Given the description of an element on the screen output the (x, y) to click on. 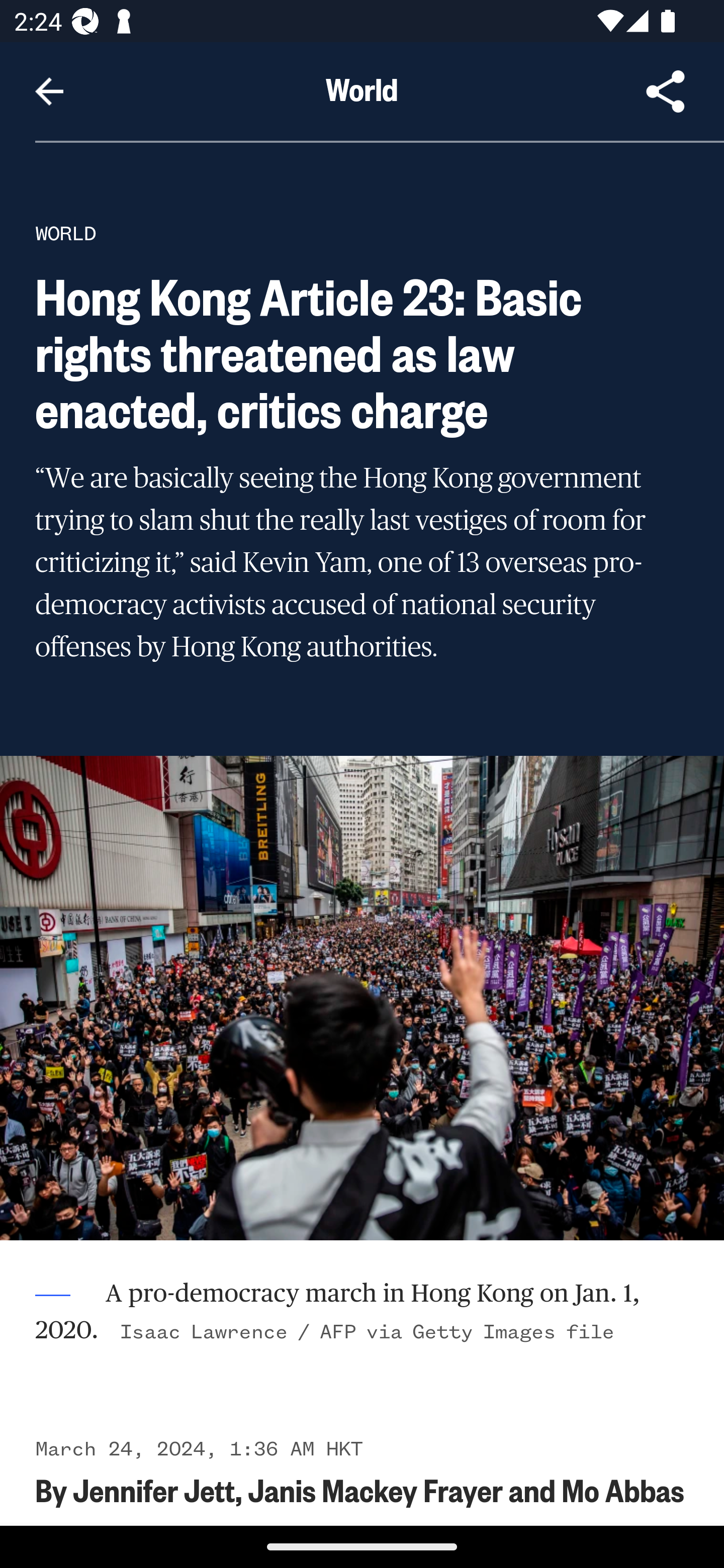
Navigate up (49, 91)
Share Article, button (665, 91)
WORLD (65, 233)
Jennifer Jett (153, 1488)
